Given the description of an element on the screen output the (x, y) to click on. 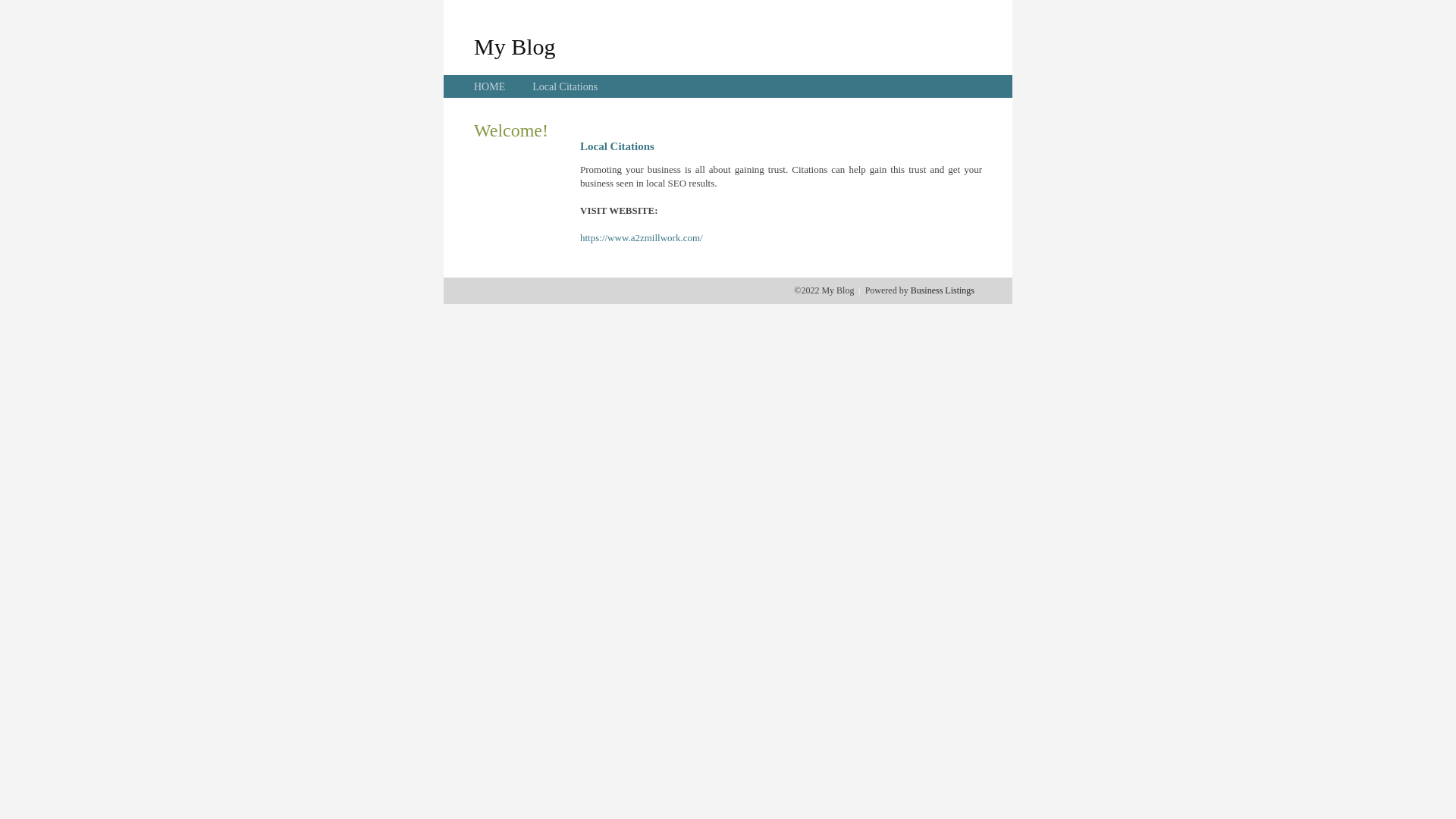
My Blog Element type: text (514, 46)
Local Citations Element type: text (564, 86)
Business Listings Element type: text (942, 290)
https://www.a2zmillwork.com/ Element type: text (641, 237)
HOME Element type: text (489, 86)
